Given the description of an element on the screen output the (x, y) to click on. 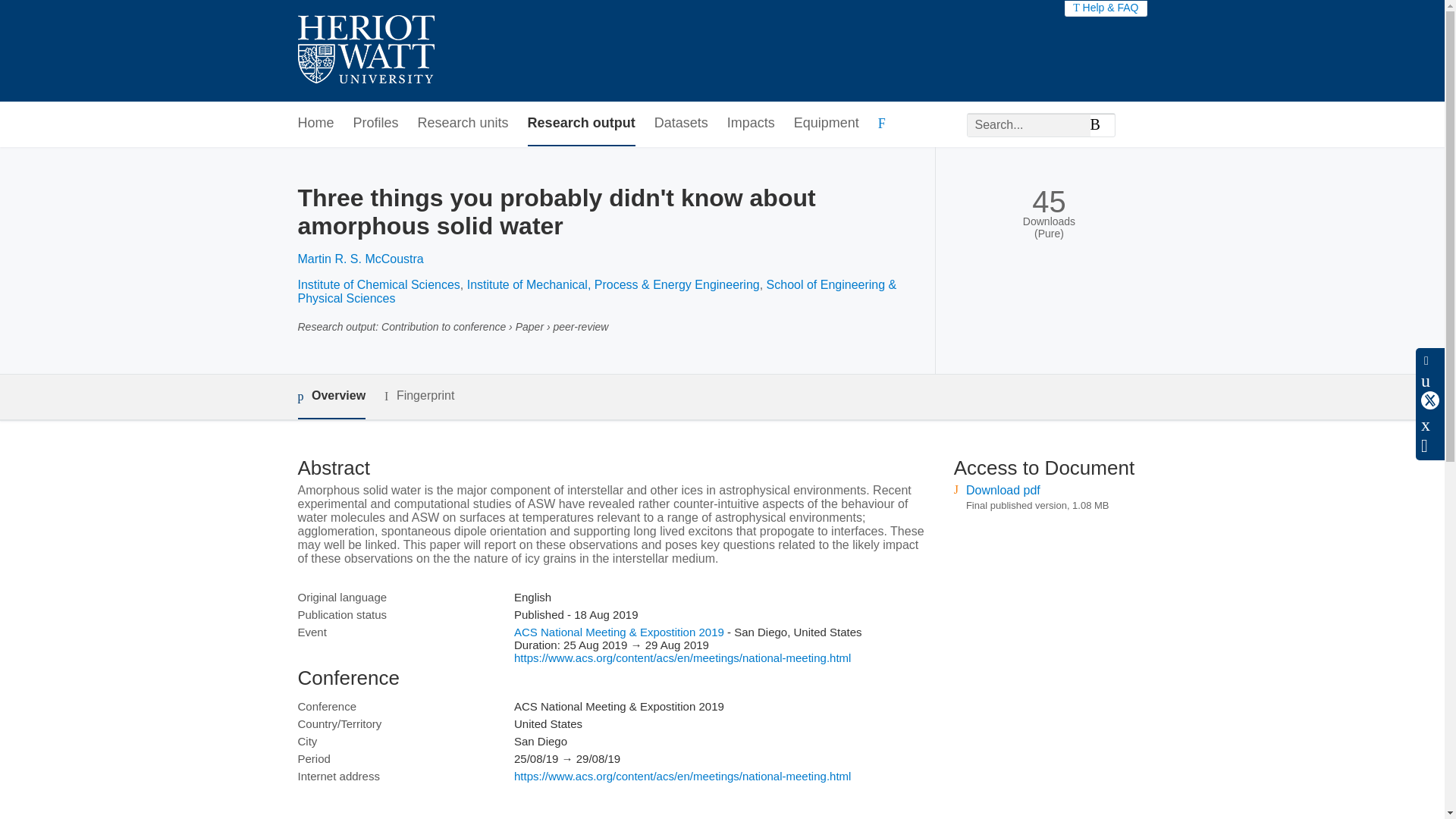
Research units (462, 123)
Fingerprint (419, 395)
Download pdf (1003, 490)
Equipment (826, 123)
Overview (331, 396)
Impacts (750, 123)
Profiles (375, 123)
Research output (580, 123)
Heriot-Watt Research Portal Home (365, 50)
Institute of Chemical Sciences (378, 284)
Martin R. S. McCoustra (360, 258)
Datasets (680, 123)
